Given the description of an element on the screen output the (x, y) to click on. 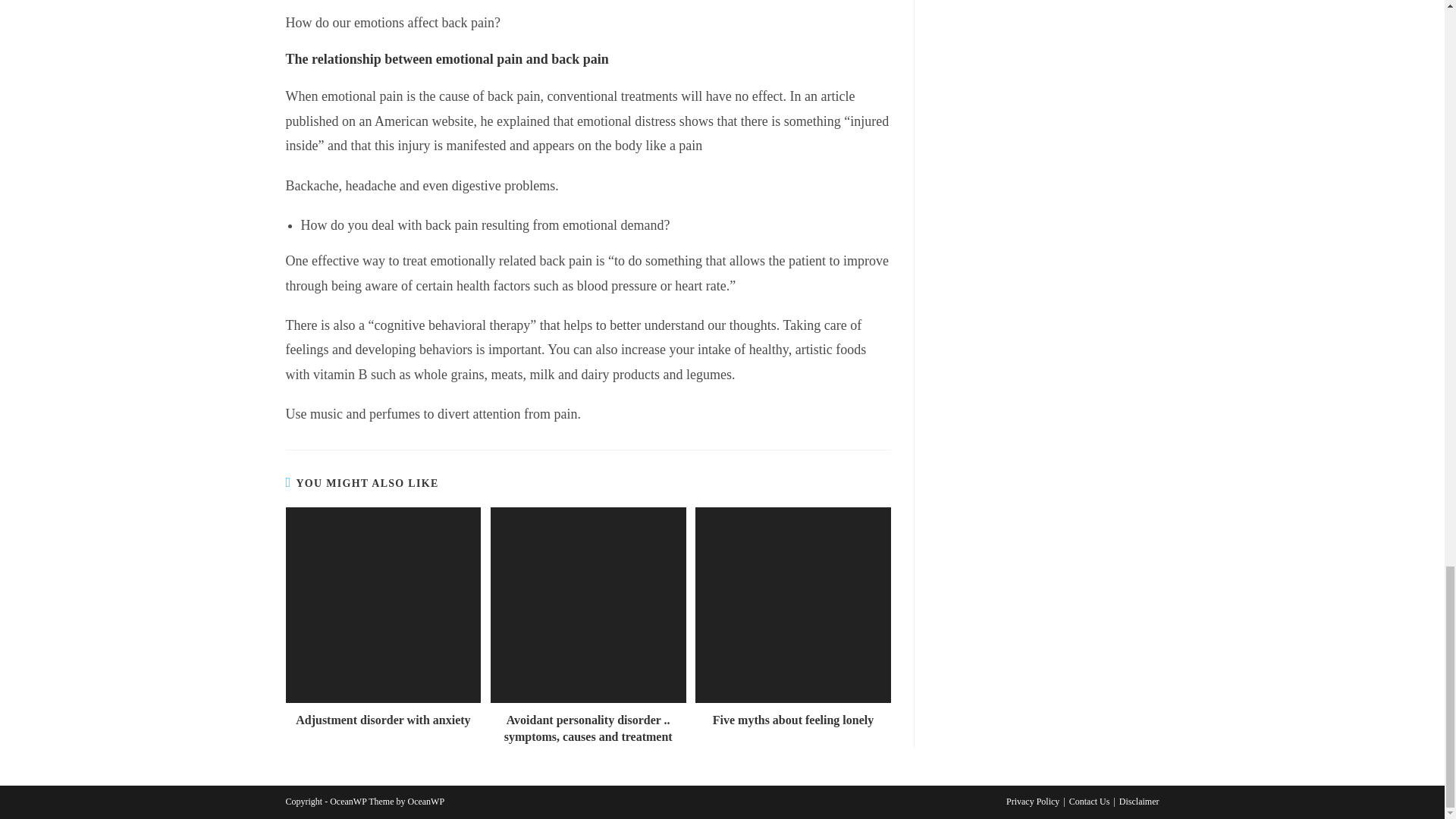
Adjustment disorder with anxiety (382, 719)
Privacy Policy (1032, 801)
Contact Us (1088, 801)
Disclaimer (1138, 801)
Five myths about feeling lonely (793, 719)
